Given the description of an element on the screen output the (x, y) to click on. 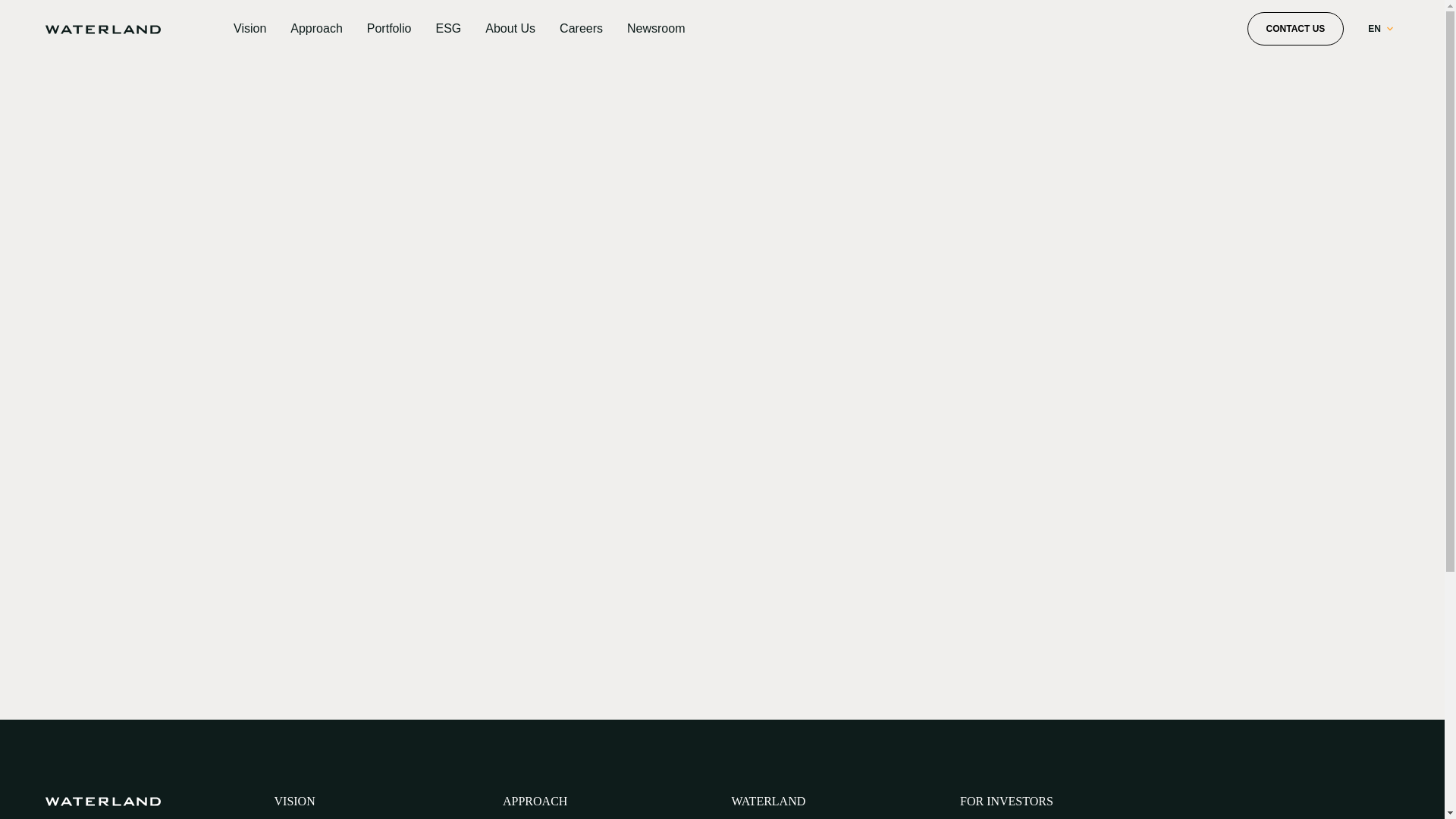
Approach (315, 28)
Vision (249, 28)
About Us (509, 28)
CONTACT US (1295, 28)
Portfolio (389, 28)
FOR INVESTORS (1005, 801)
Newsroom (655, 28)
WATERLAND (767, 801)
Careers (580, 28)
VISION (295, 801)
APPROACH (534, 801)
ESG (448, 28)
